Given the description of an element on the screen output the (x, y) to click on. 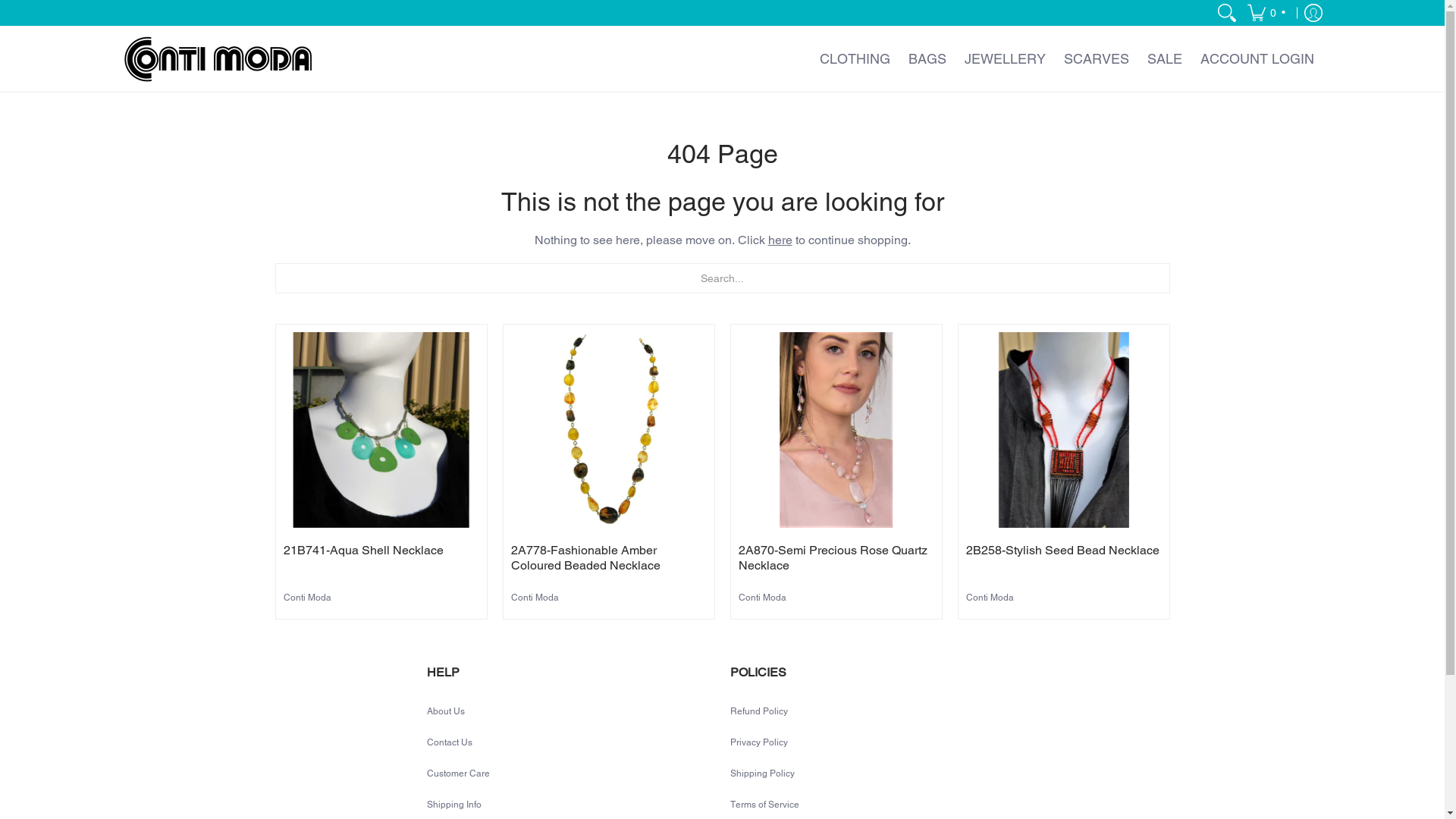
ACCOUNT LOGIN Element type: text (1256, 58)
2A778-Fashionable Amber Coloured Beaded Necklace Element type: text (585, 557)
Privacy Policy Element type: text (758, 742)
Buy 2A870-Semi Precious Rose Quartz Necklace Element type: hover (836, 429)
Terms of Service Element type: text (763, 804)
SCARVES Element type: text (1095, 58)
Conti Moda Element type: text (762, 597)
SALE Element type: text (1164, 58)
JEWELLERY Element type: text (1005, 58)
Log in Element type: hover (1312, 12)
21B741-Aqua Shell Necklace Element type: text (363, 549)
Conti Moda Element type: text (307, 597)
Buy 21B741-Aqua Shell Necklace Element type: hover (381, 429)
Shipping Info Element type: text (453, 804)
BAGS Element type: text (926, 58)
Contact Us Element type: text (449, 742)
Conti Moda Element type: text (534, 597)
Buy 2A778-Fashionable Amber Coloured Beaded Necklace Element type: hover (608, 429)
CLOTHING Element type: text (854, 58)
here Element type: text (779, 239)
About Us Element type: text (445, 711)
Buy 2B258-Stylish Seed Bead Necklace Element type: hover (1063, 429)
Customer Care Element type: text (457, 773)
Conti Moda Element type: text (989, 597)
2B258-Stylish Seed Bead Necklace Element type: text (1062, 549)
Search Element type: hover (1226, 12)
Refund Policy Element type: text (758, 711)
Shipping Policy Element type: text (761, 773)
2A870-Semi Precious Rose Quartz Necklace Element type: text (832, 557)
Conti Moda Element type: hover (217, 58)
